Given the description of an element on the screen output the (x, y) to click on. 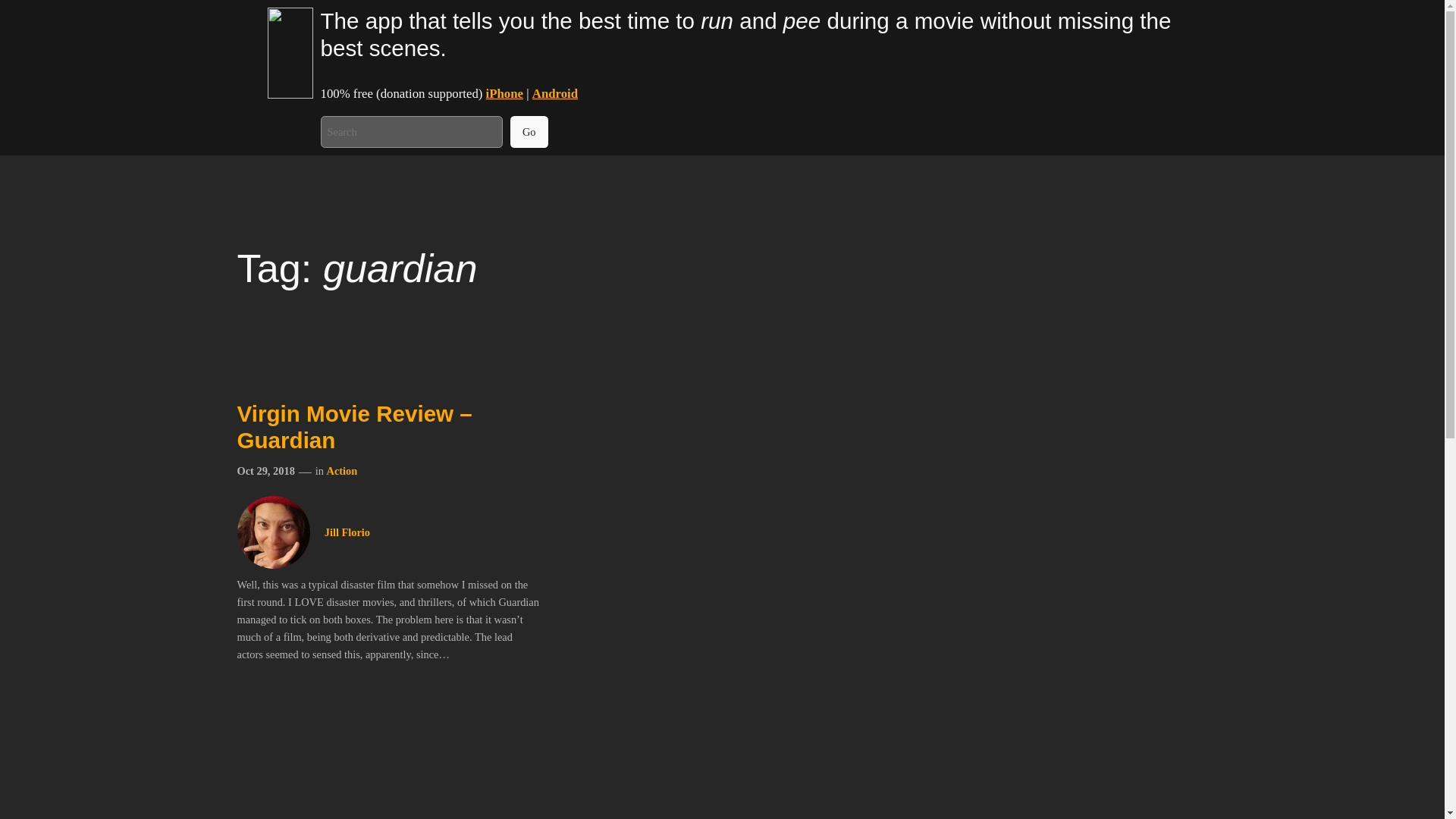
iPhone (504, 93)
Go (529, 132)
Action (341, 470)
Jill Florio (346, 532)
Oct 29, 2018 (264, 470)
Android (555, 93)
